Given the description of an element on the screen output the (x, y) to click on. 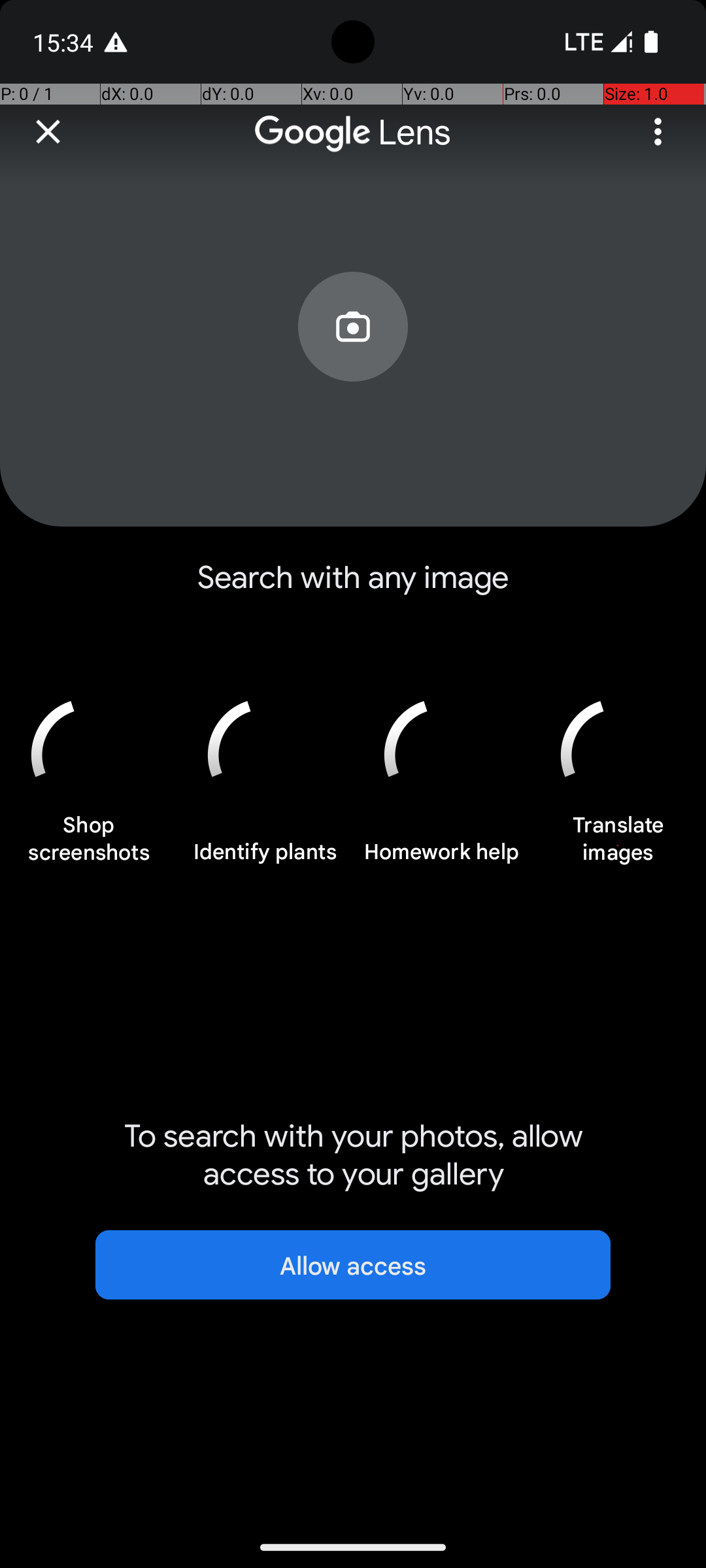
Search with your camera Element type: android.widget.FrameLayout (353, 356)
Search with any image Element type: android.widget.TextView (353, 587)
Shop screenshots Element type: android.widget.TextView (88, 845)
Identify plants Element type: android.widget.TextView (264, 858)
Homework help Element type: android.widget.TextView (441, 858)
Translate images Element type: android.widget.TextView (617, 845)
To search with your photos, allow access to your gallery Element type: android.widget.TextView (352, 1154)
Allow access Element type: android.widget.Button (352, 1264)
